Given the description of an element on the screen output the (x, y) to click on. 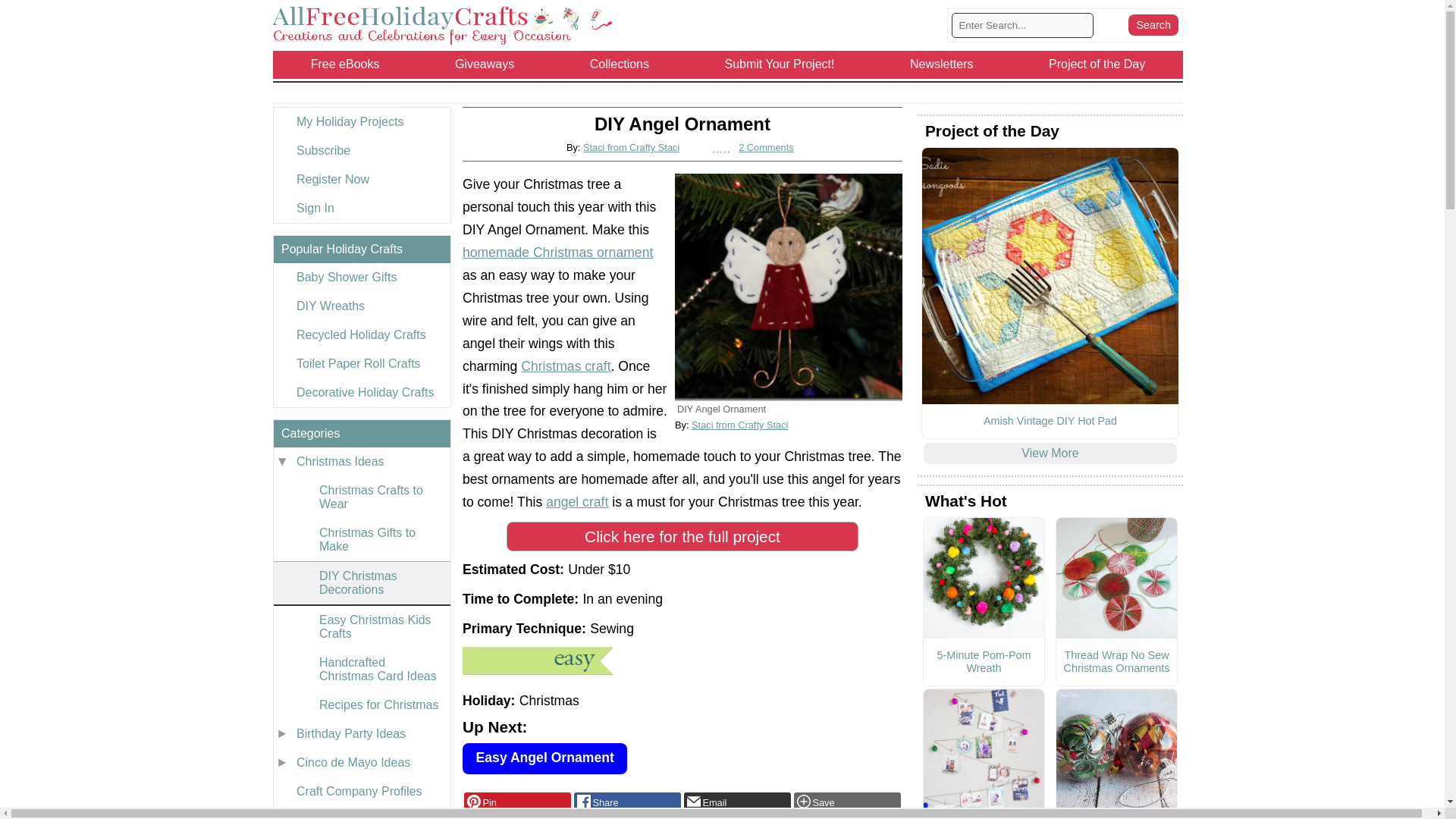
Easy Angel Ornament (545, 757)
Subscribe (361, 150)
Search (1152, 25)
Email (737, 802)
Sign In (361, 208)
Register Now (361, 179)
DIY Angel Ornament (788, 287)
Facebook (627, 802)
My Holiday Projects (361, 121)
Add (847, 802)
